Given the description of an element on the screen output the (x, y) to click on. 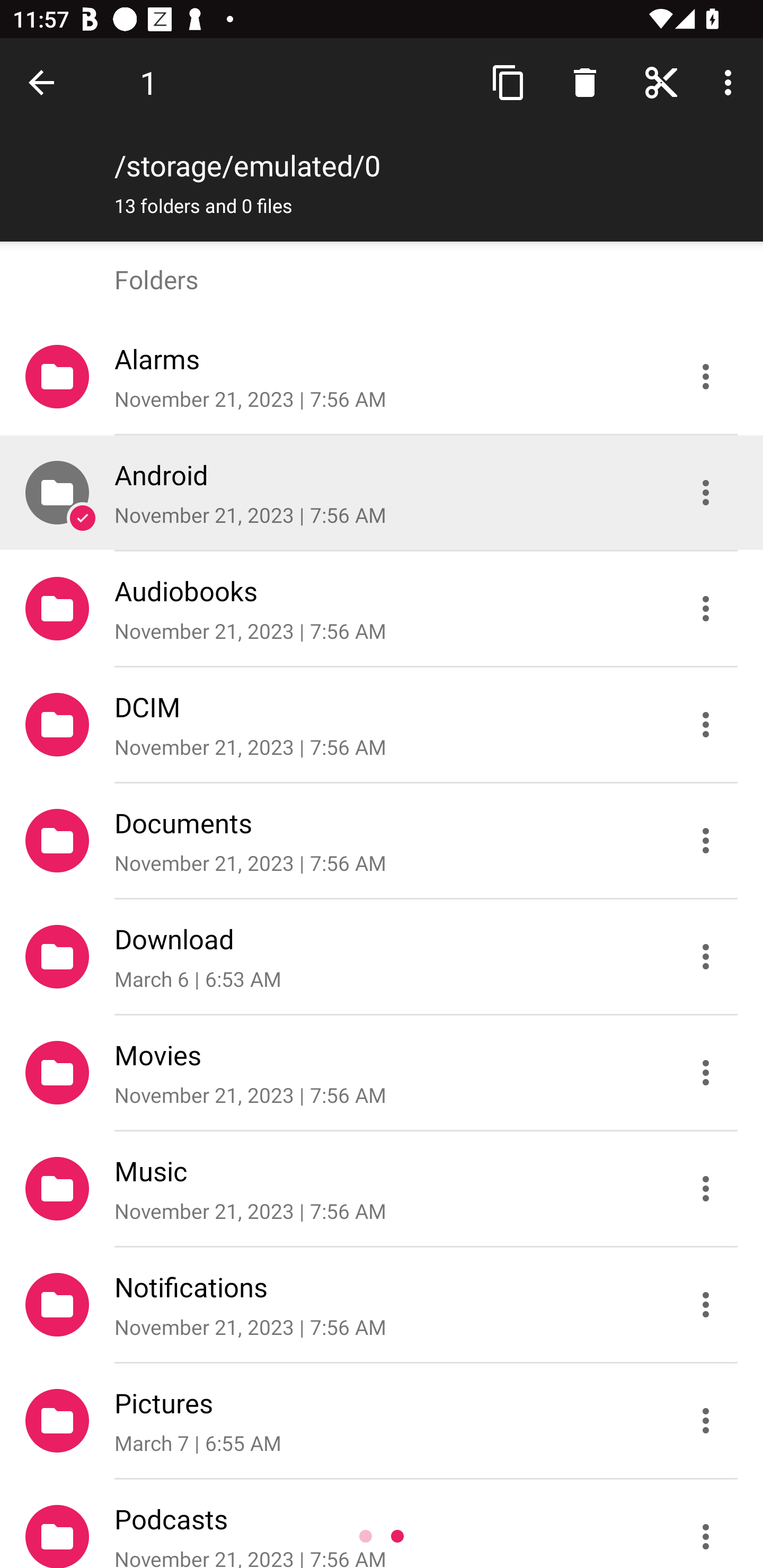
1 (148, 82)
Done (44, 81)
Copy (508, 81)
Search (585, 81)
Home (661, 81)
More options (731, 81)
Alarms November 21, 2023 | 7:56 AM (381, 376)
Android November 21, 2023 | 7:56 AM (381, 492)
Audiobooks November 21, 2023 | 7:56 AM (381, 608)
DCIM November 21, 2023 | 7:56 AM (381, 724)
Documents November 21, 2023 | 7:56 AM (381, 841)
Download March 6 | 6:53 AM (381, 957)
Movies November 21, 2023 | 7:56 AM (381, 1073)
Music November 21, 2023 | 7:56 AM (381, 1189)
Notifications November 21, 2023 | 7:56 AM (381, 1305)
Pictures March 7 | 6:55 AM (381, 1421)
Podcasts November 21, 2023 | 7:56 AM (381, 1524)
